Given the description of an element on the screen output the (x, y) to click on. 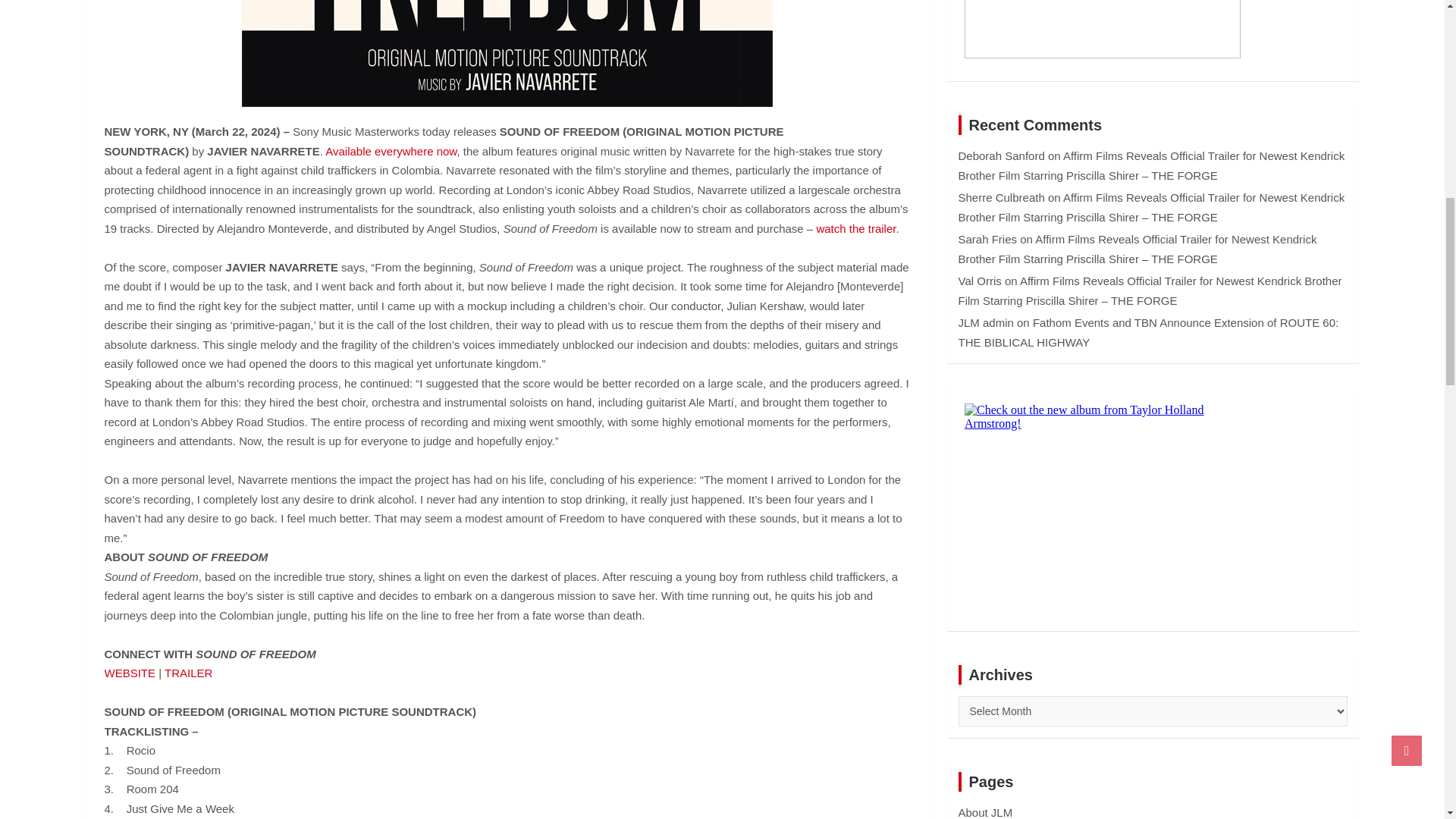
Available everywhere now (390, 151)
TRAILER (188, 672)
watch the trailer (855, 228)
WEBSITE (129, 672)
